Given the description of an element on the screen output the (x, y) to click on. 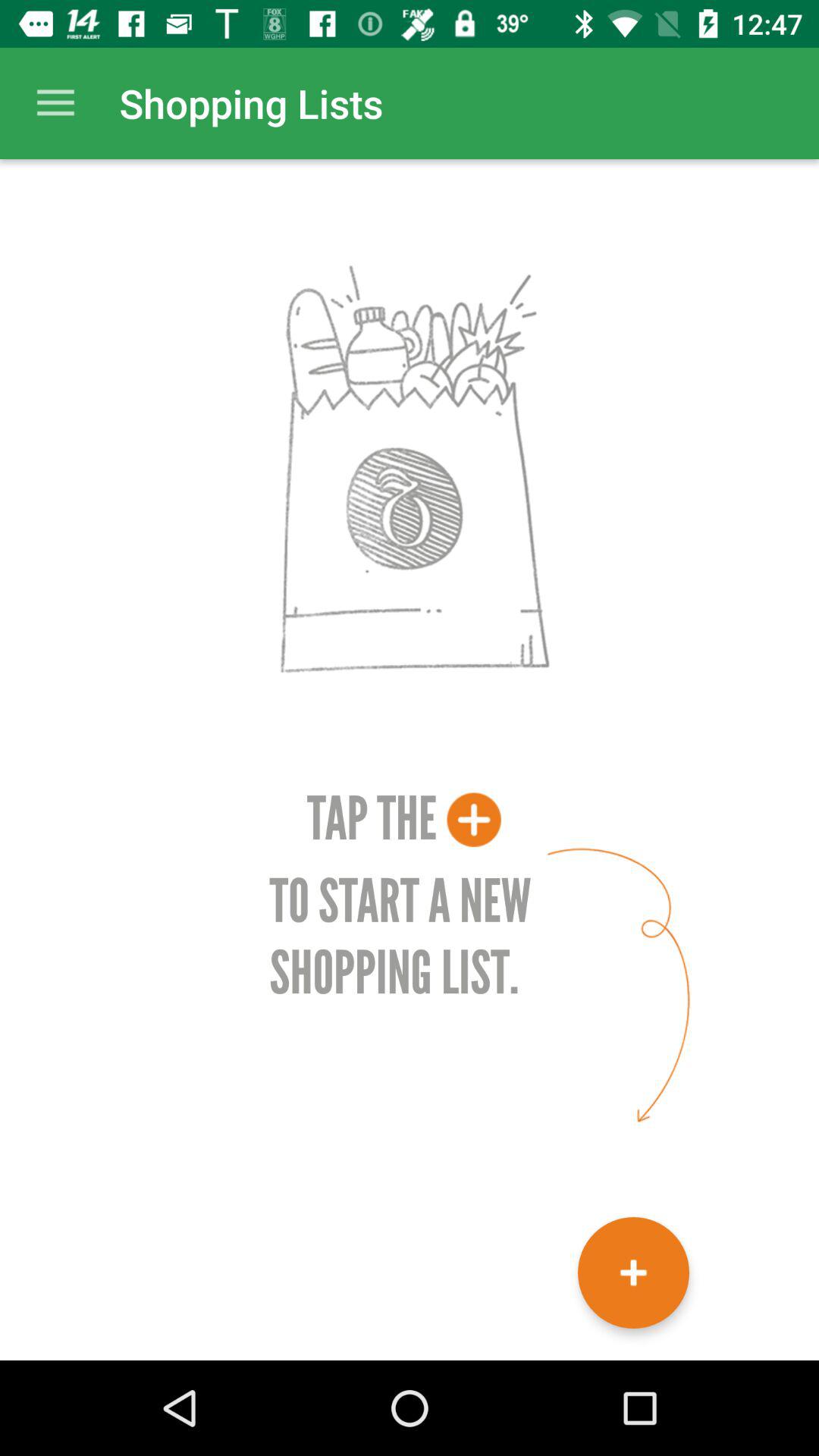
start a new shopping list (633, 1272)
